Given the description of an element on the screen output the (x, y) to click on. 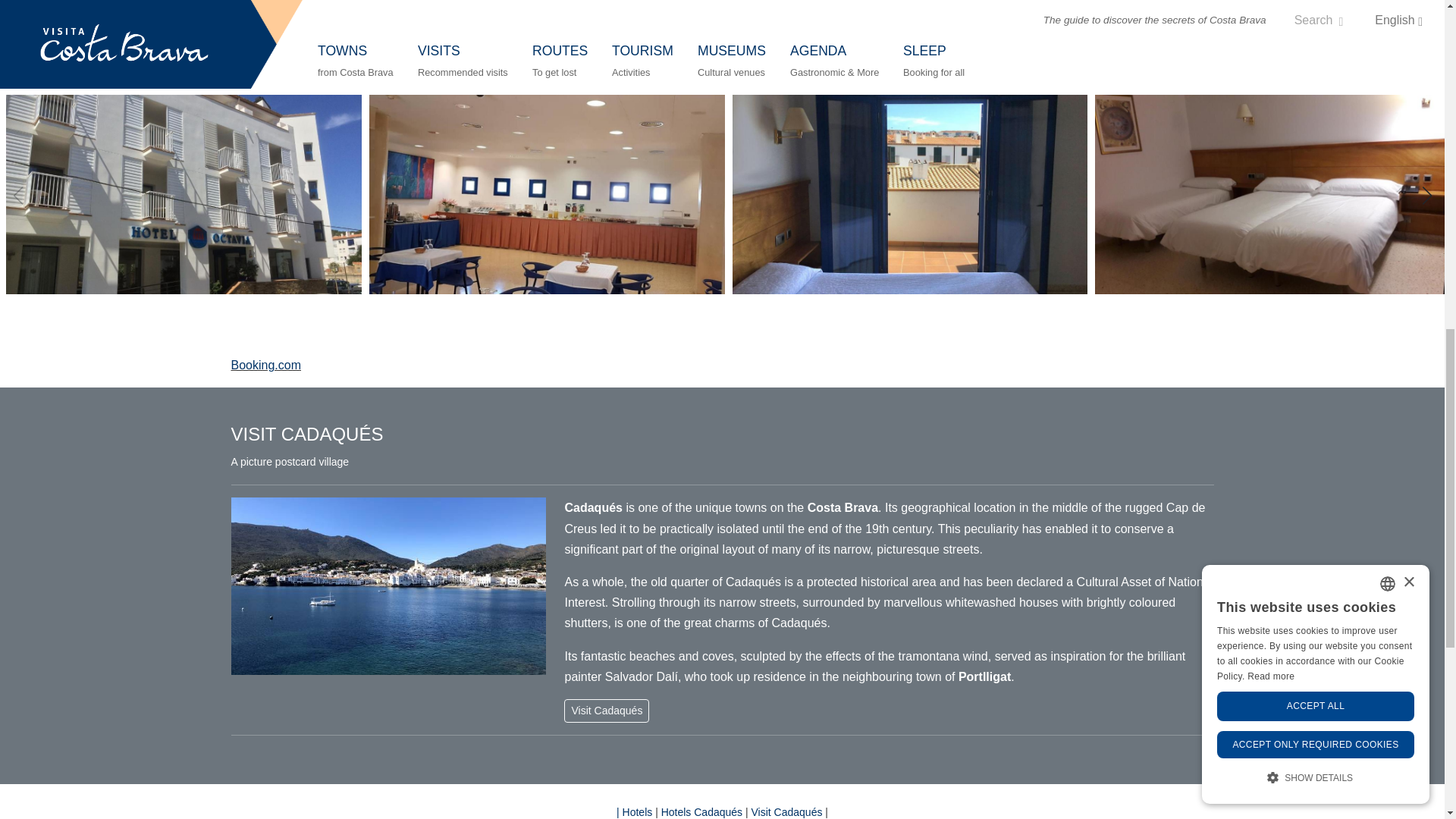
Hotel Octavia (909, 194)
Hotel Octavia (547, 194)
WhatsApp (719, 72)
Portlligat (984, 676)
Portlligat (984, 676)
Hotel Octavia (183, 194)
Booking.com (265, 364)
